Given the description of an element on the screen output the (x, y) to click on. 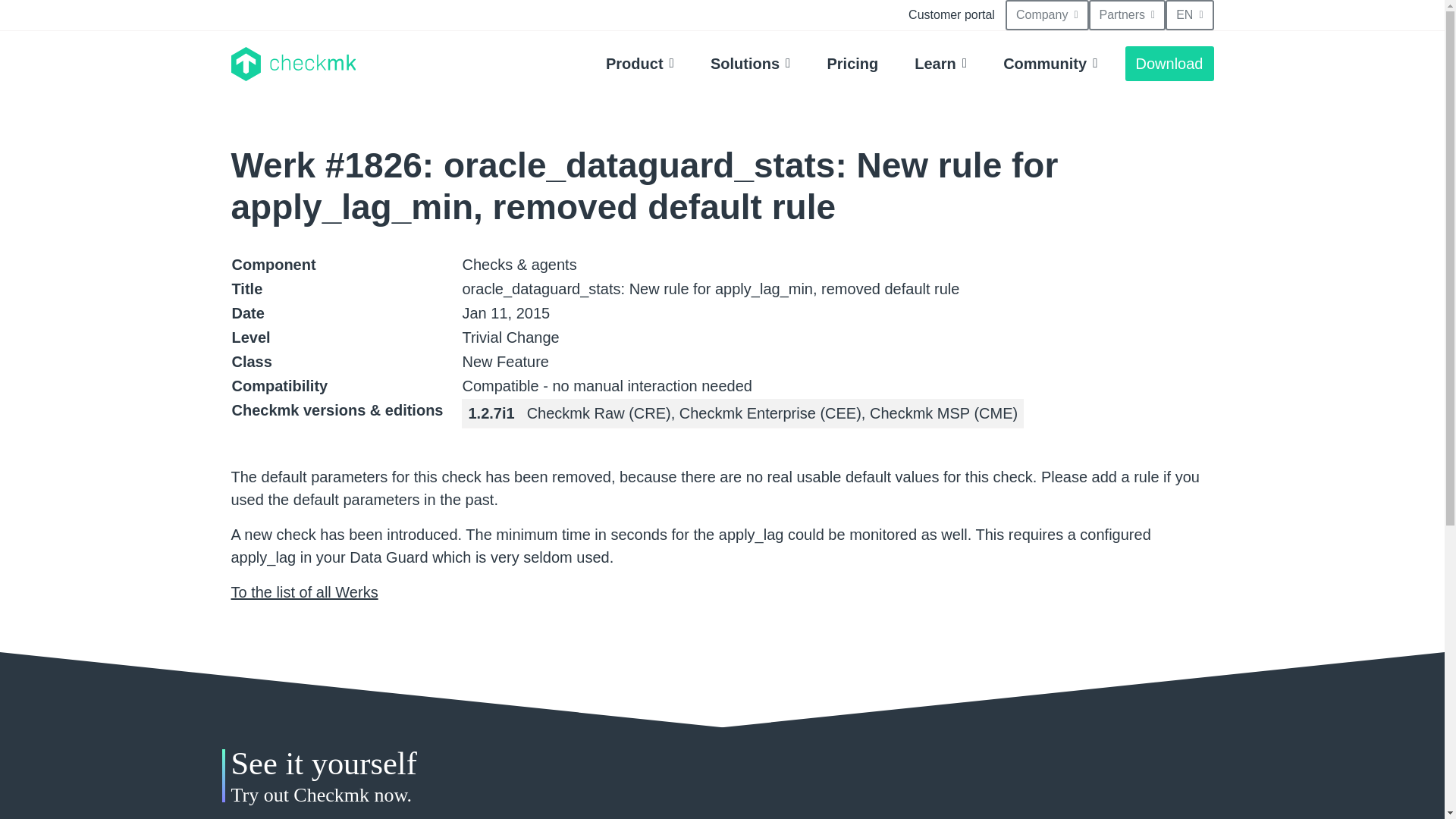
Solutions (750, 63)
EN (1189, 15)
Product (639, 63)
Company (1047, 15)
Customer portal (952, 15)
Checkmk (292, 63)
Partners (1127, 15)
